Given the description of an element on the screen output the (x, y) to click on. 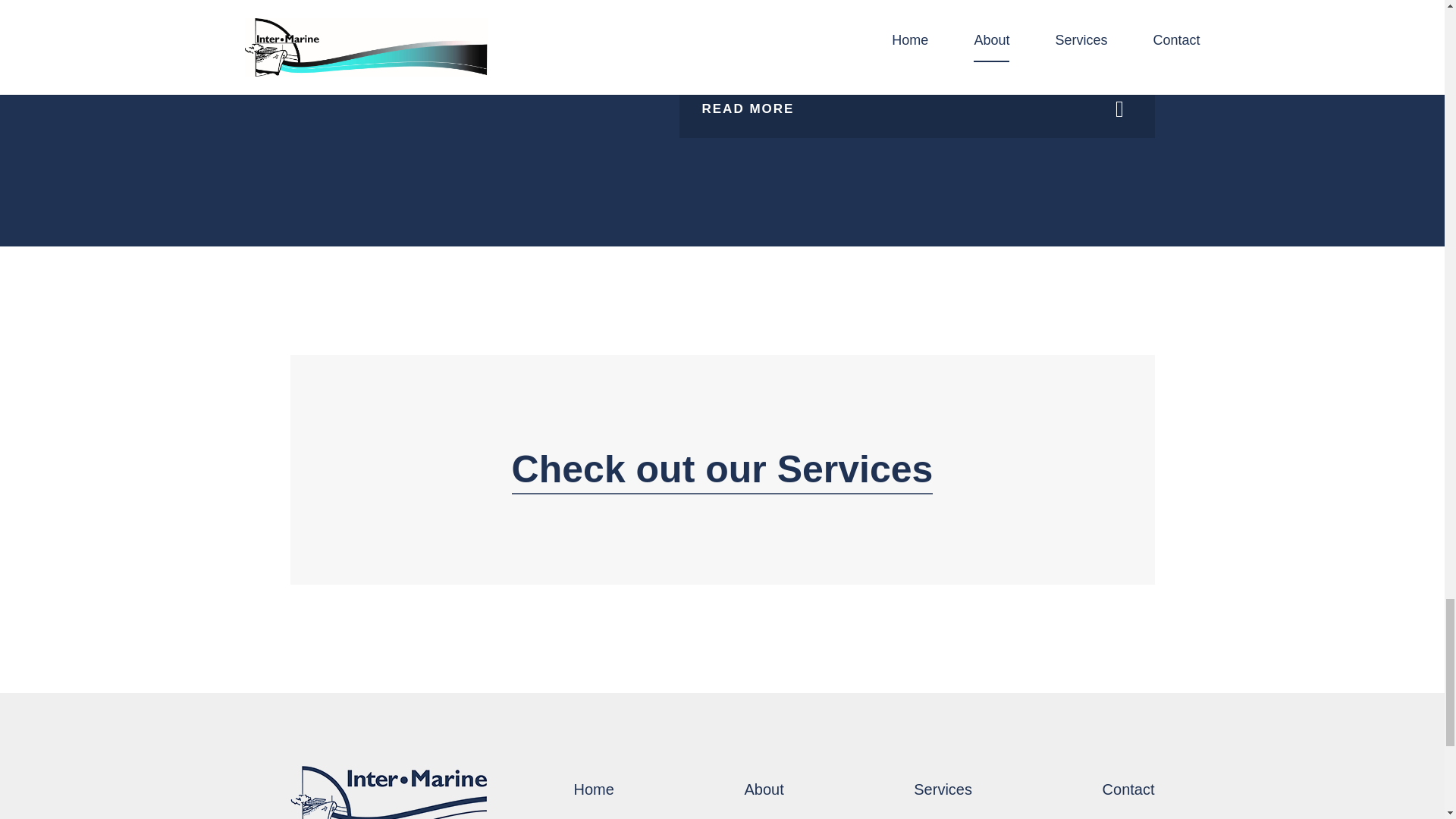
READ (916, 109)
About (763, 789)
Home (592, 789)
Contact (1128, 789)
Check out our Services (722, 468)
Services (943, 789)
